Given the description of an element on the screen output the (x, y) to click on. 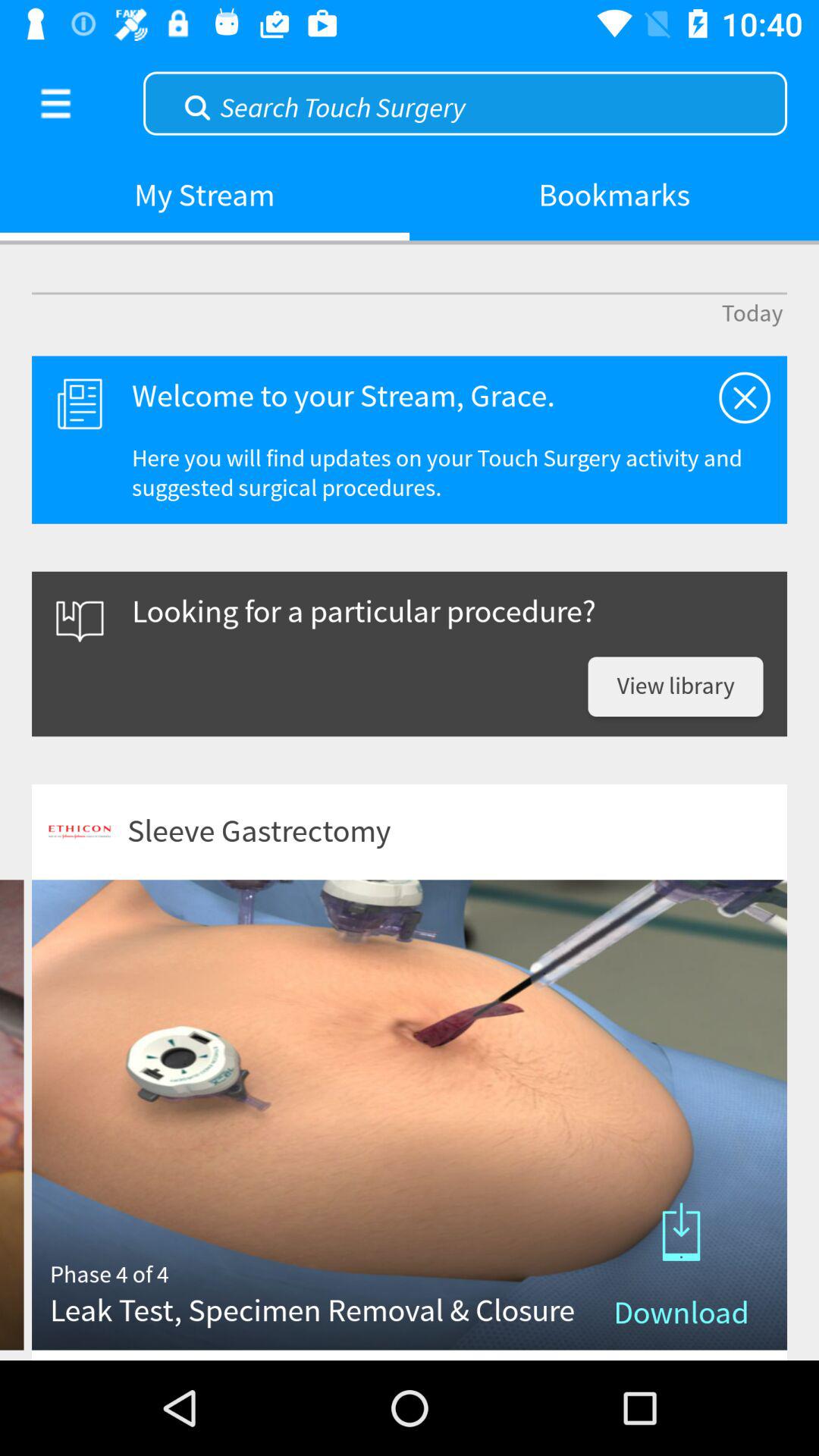
launch view library (675, 686)
